Given the description of an element on the screen output the (x, y) to click on. 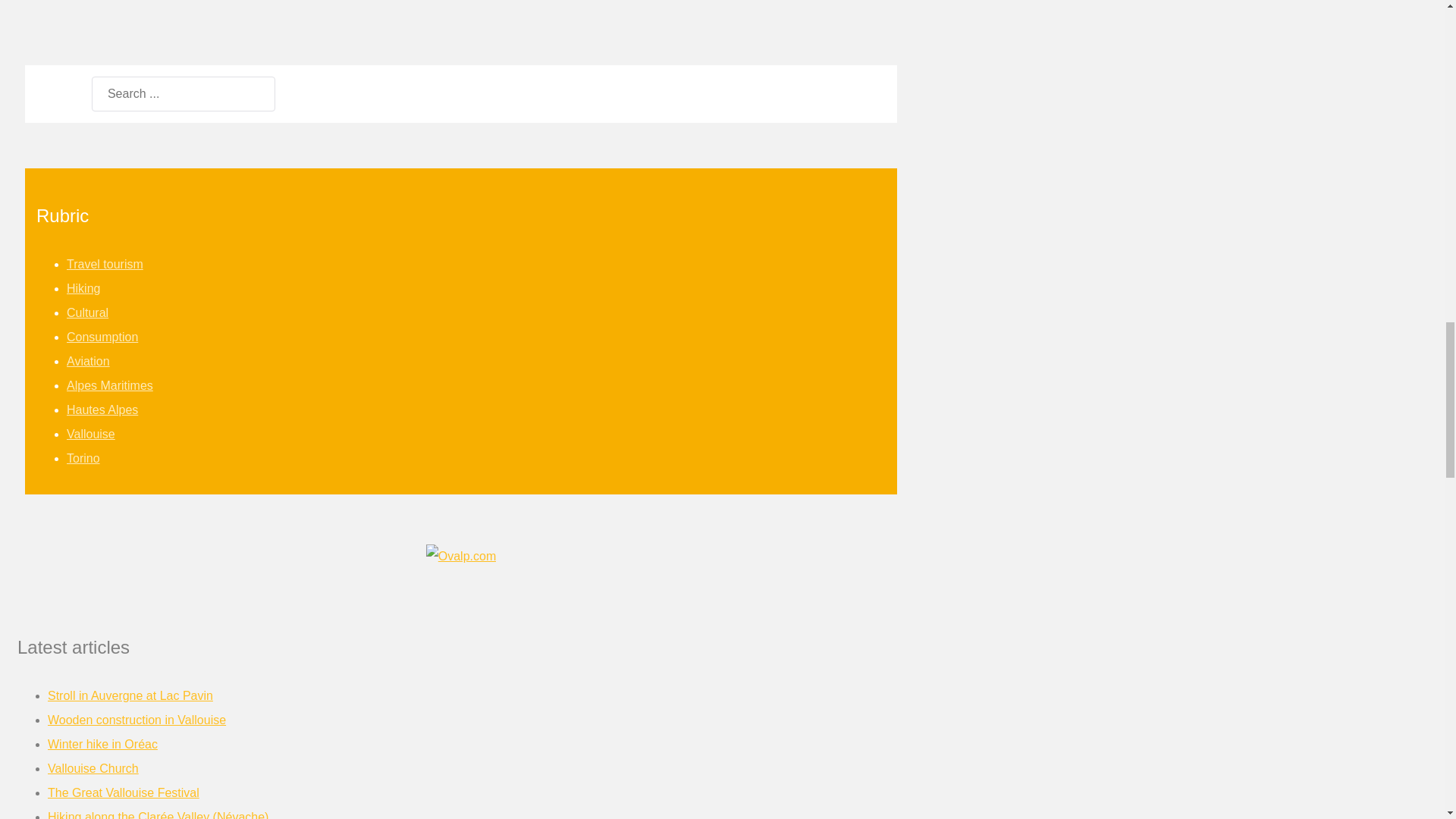
Hautes Alpes magazine (102, 409)
Blog Alpes Maritimes  (109, 385)
Aviation (88, 360)
Hautes Alpes (102, 409)
Torino (83, 458)
Cultural blog (86, 312)
Comparisons, tests, tests, products, shopping, (102, 336)
Aviation blog (88, 360)
Blog Torino (83, 458)
Alpes Maritimes (109, 385)
Travel tourism (104, 264)
Cultural (86, 312)
Hiking (83, 287)
Vallouise (90, 433)
Consumption (102, 336)
